Given the description of an element on the screen output the (x, y) to click on. 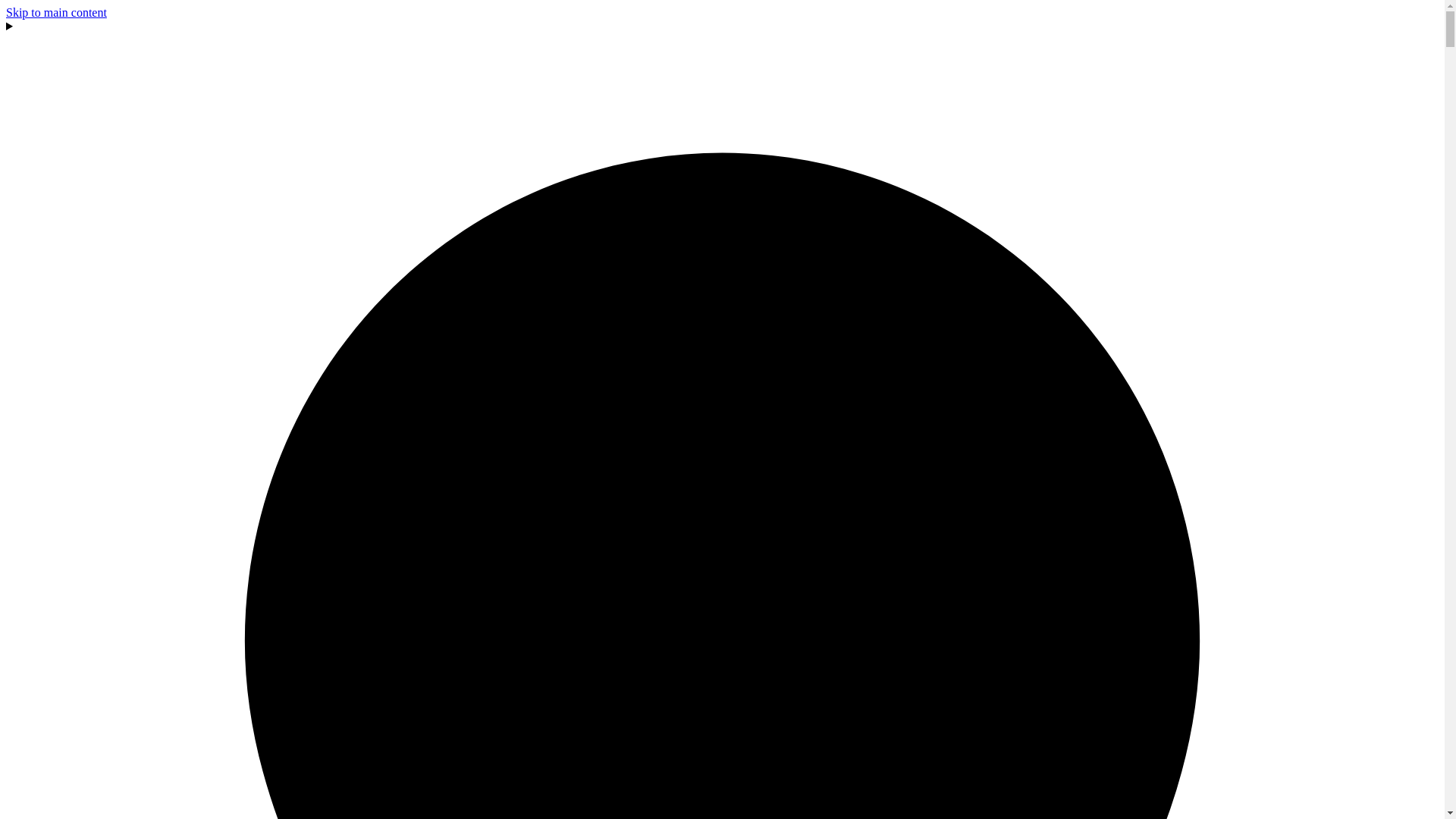
Skip to main content (55, 11)
